Given the description of an element on the screen output the (x, y) to click on. 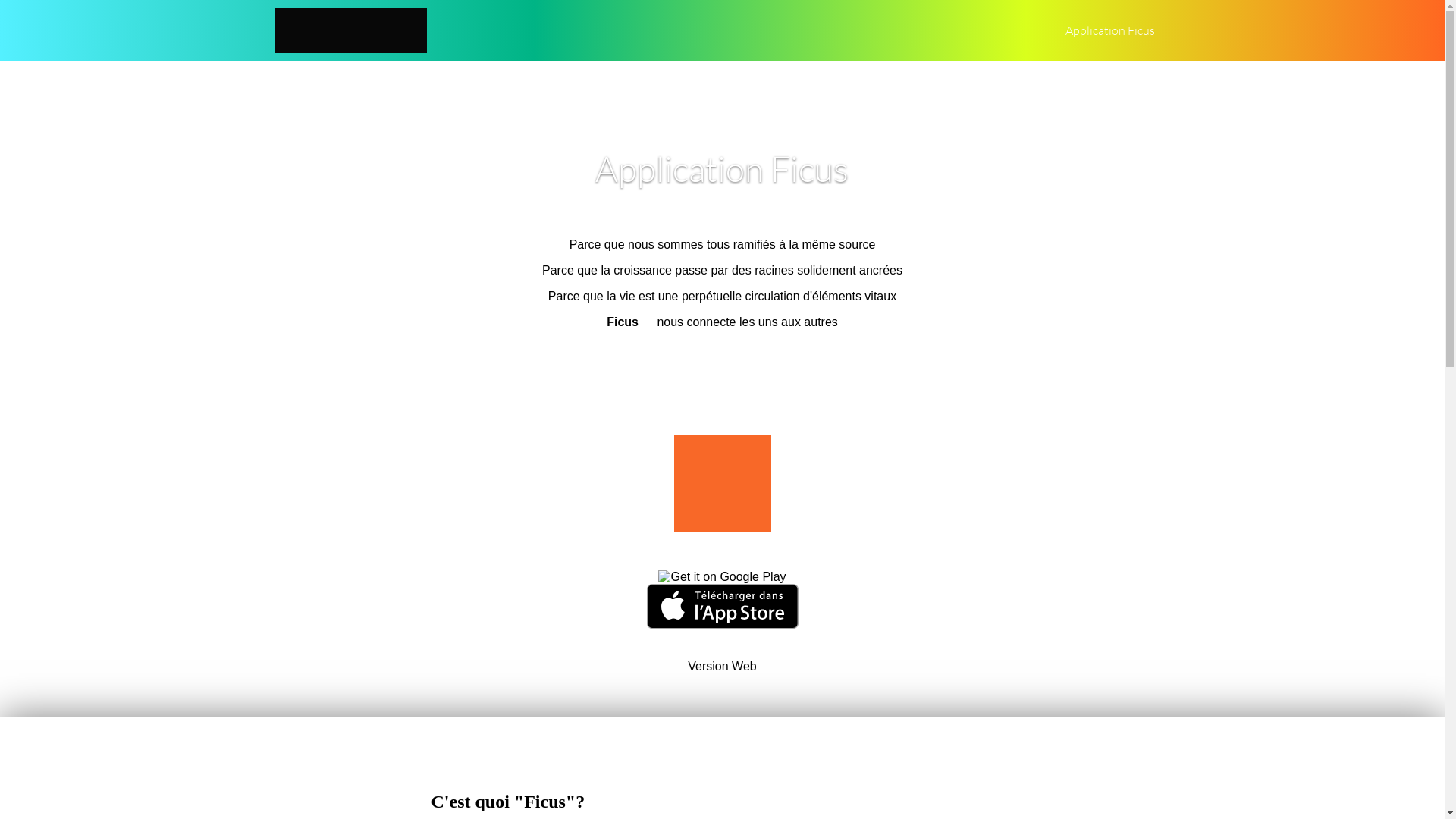
Version Web Element type: text (721, 666)
version web Element type: text (722, 362)
